Given the description of an element on the screen output the (x, y) to click on. 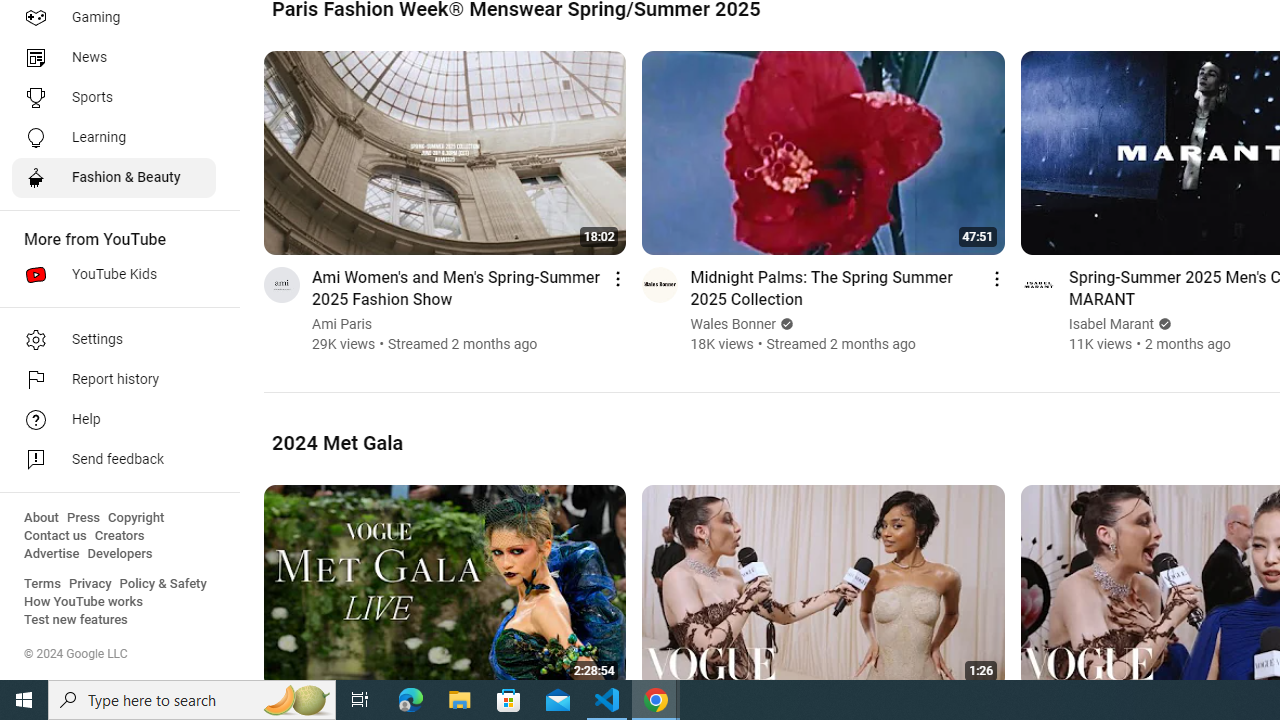
Press (83, 518)
Policy & Safety (163, 584)
Report history (113, 380)
News (113, 57)
Help (113, 419)
Copyright (136, 518)
Learning (113, 137)
Developers (120, 554)
How YouTube works (83, 602)
Privacy (89, 584)
Wales Bonner (733, 323)
2024 Met Gala (337, 442)
Action menu (996, 277)
Isabel Marant (1111, 323)
Go to channel (1038, 284)
